Given the description of an element on the screen output the (x, y) to click on. 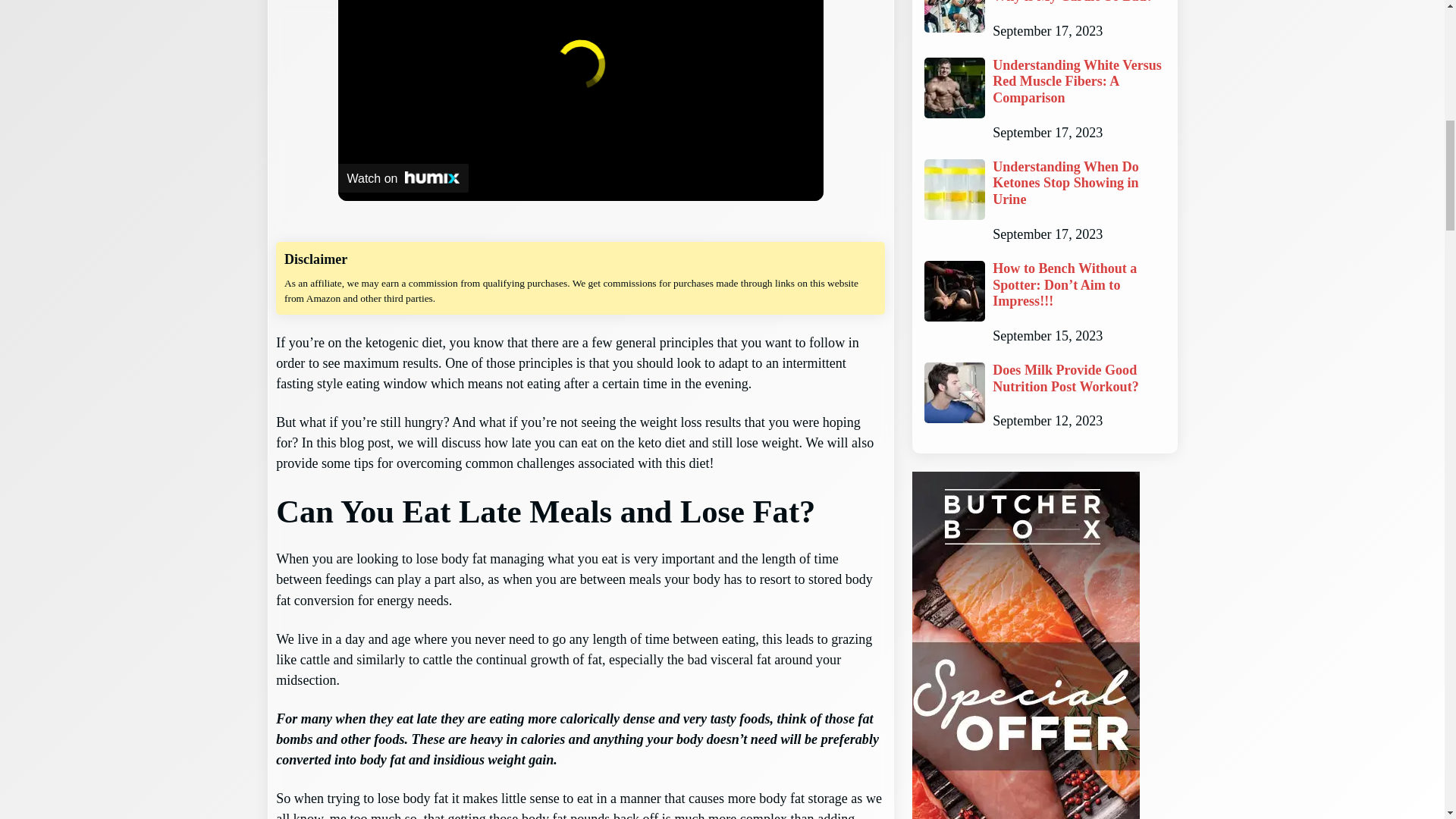
Understanding White Versus Red Muscle Fibers: A Comparison (1078, 82)
Unraveling the Question: Why is My Cardio So Bad? (1078, 2)
Understanding When Do Ketones Stop Showing in Urine (1078, 183)
Does Milk Provide Good Nutrition Post Workout? (1078, 378)
Watch on (402, 177)
